Given the description of an element on the screen output the (x, y) to click on. 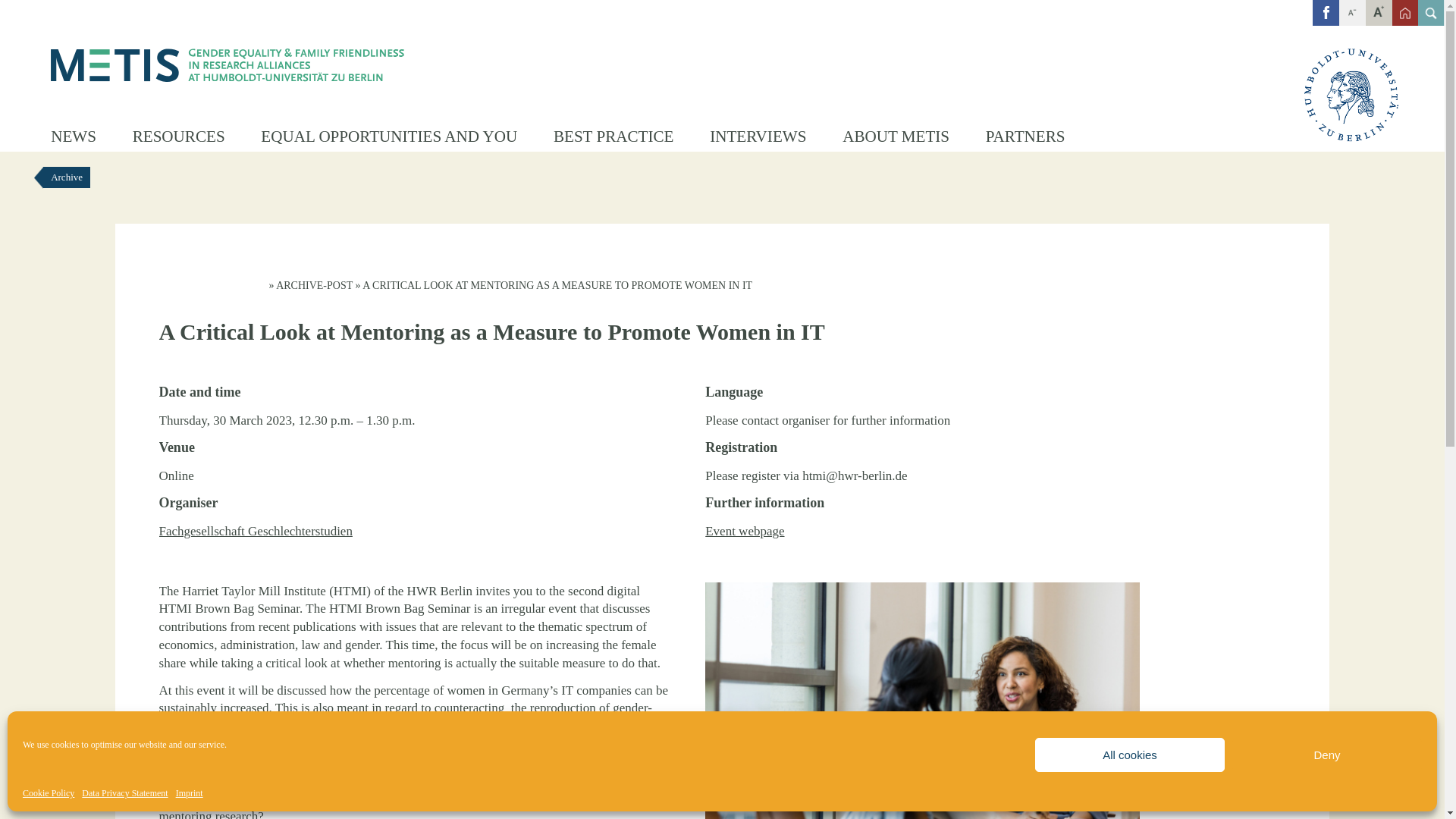
PARTNERS (1025, 136)
Search (21, 7)
Cookie Policy (48, 793)
All cookies (1129, 754)
BEST PRACTICE (613, 136)
Deny (1326, 754)
NEWS (73, 136)
Data Privacy Statement (124, 793)
EQUAL OPPORTUNITIES AND YOU (388, 136)
RESOURCES (178, 136)
FB (1326, 12)
Archive (66, 177)
Imprint (189, 793)
INTERVIEWS (757, 136)
ABOUT METIS (895, 136)
